Given the description of an element on the screen output the (x, y) to click on. 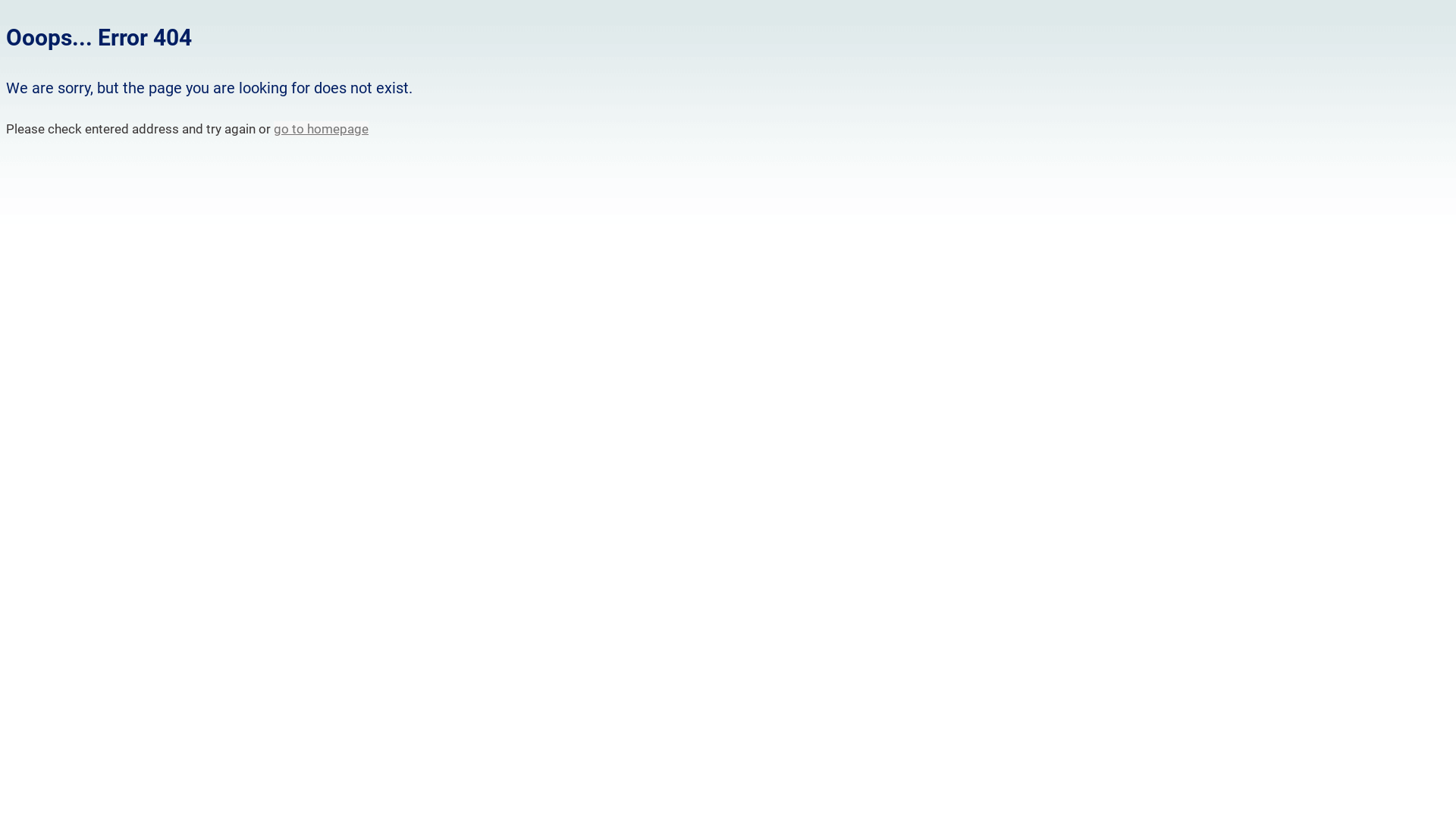
go to homepage Element type: text (320, 128)
